Given the description of an element on the screen output the (x, y) to click on. 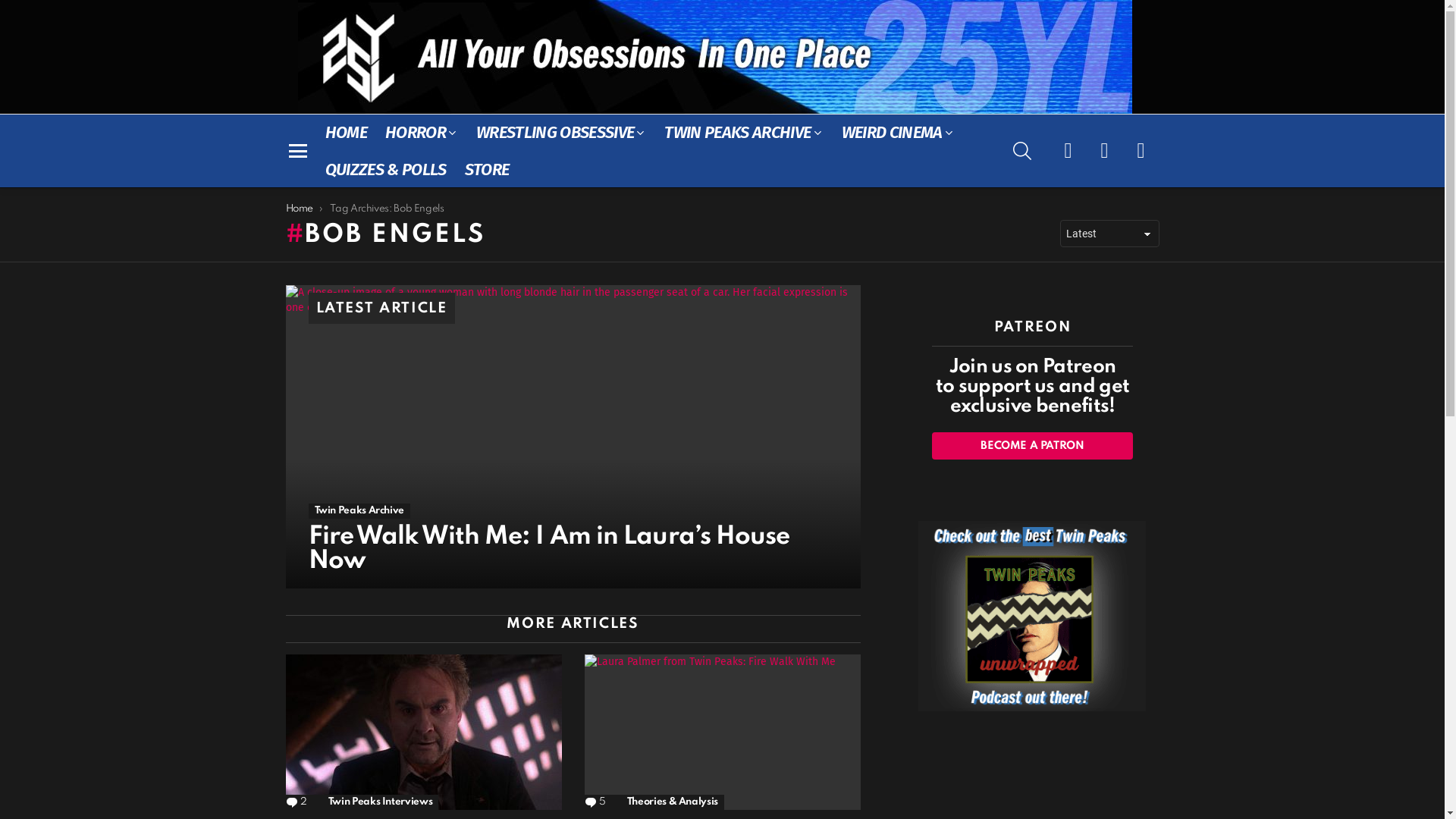
HOME Element type: text (345, 131)
QUIZZES & POLLS Element type: text (384, 169)
5
Comments Element type: text (594, 802)
Twin Peaks Archive Element type: text (358, 510)
Home Element type: text (299, 208)
facebook Element type: text (1067, 150)
instagram Element type: text (1140, 150)
WEIRD CINEMA Element type: text (897, 131)
Menu Element type: text (297, 150)
Twin Peaks Interviews Element type: text (380, 801)
WRESTLING OBSESSIVE Element type: text (561, 131)
Theories & Analysis Element type: text (672, 801)
2
Comments Element type: text (295, 802)
STORE Element type: text (486, 169)
SEARCH Element type: text (1022, 150)
TWIN PEAKS ARCHIVE Element type: text (743, 131)
twitter Element type: text (1103, 150)
HORROR Element type: text (421, 131)
BECOME A PATRON Element type: text (1031, 445)
